Given the description of an element on the screen output the (x, y) to click on. 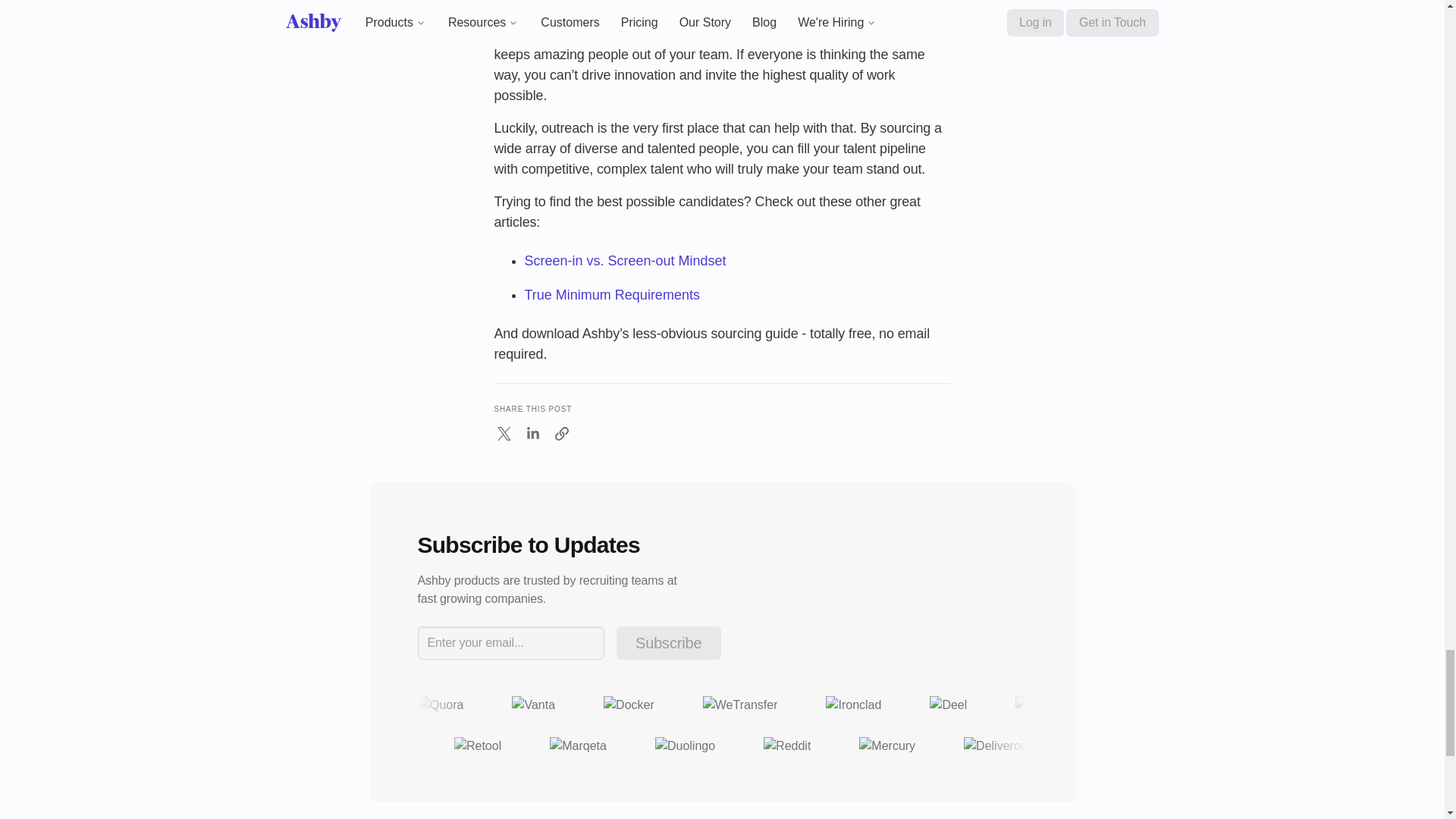
Ramp (1036, 704)
Ironclad (852, 704)
Quora (439, 704)
Subscribe (667, 643)
Screen-in vs. Screen-out Mindset (625, 260)
Deel (948, 704)
Share on Linkedin (532, 436)
Tweet (504, 436)
Docker (628, 704)
Copy post link (561, 433)
